Given the description of an element on the screen output the (x, y) to click on. 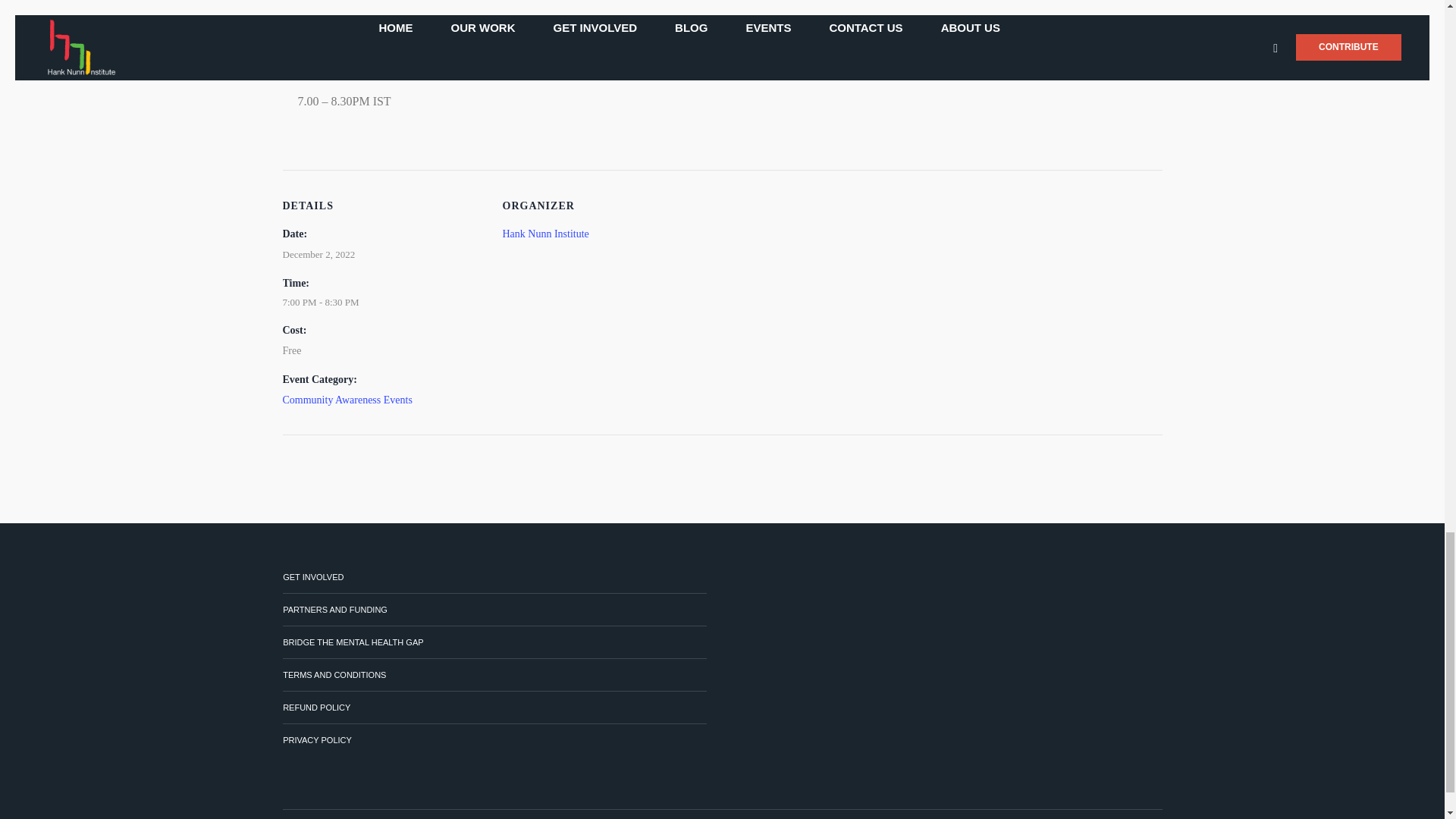
2022-12-02 (392, 302)
Hank Nunn Institute (545, 233)
2022-12-02 (318, 254)
